Given the description of an element on the screen output the (x, y) to click on. 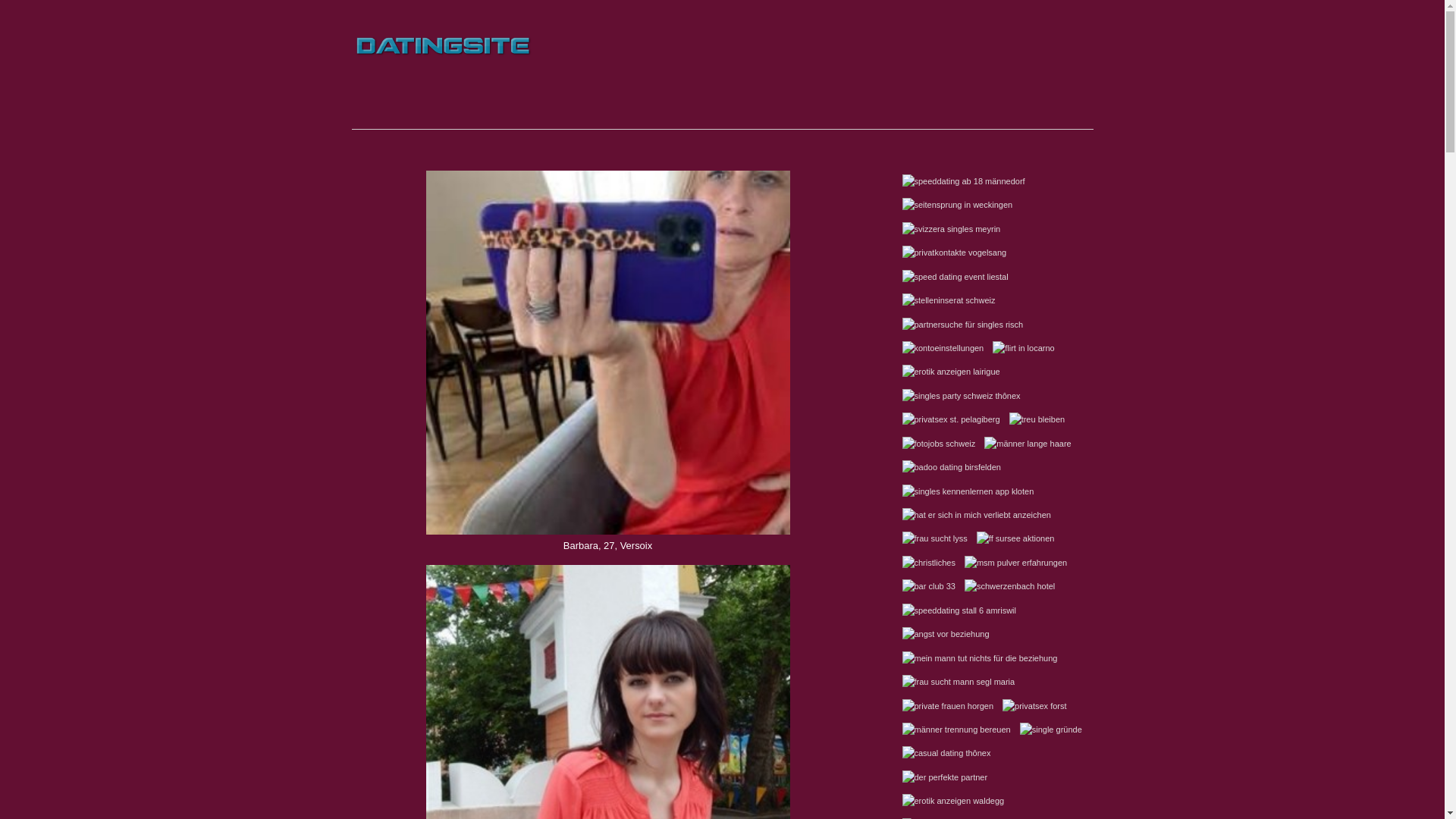
schweizer flirt app glarus Element type: hover (442, 87)
